Given the description of an element on the screen output the (x, y) to click on. 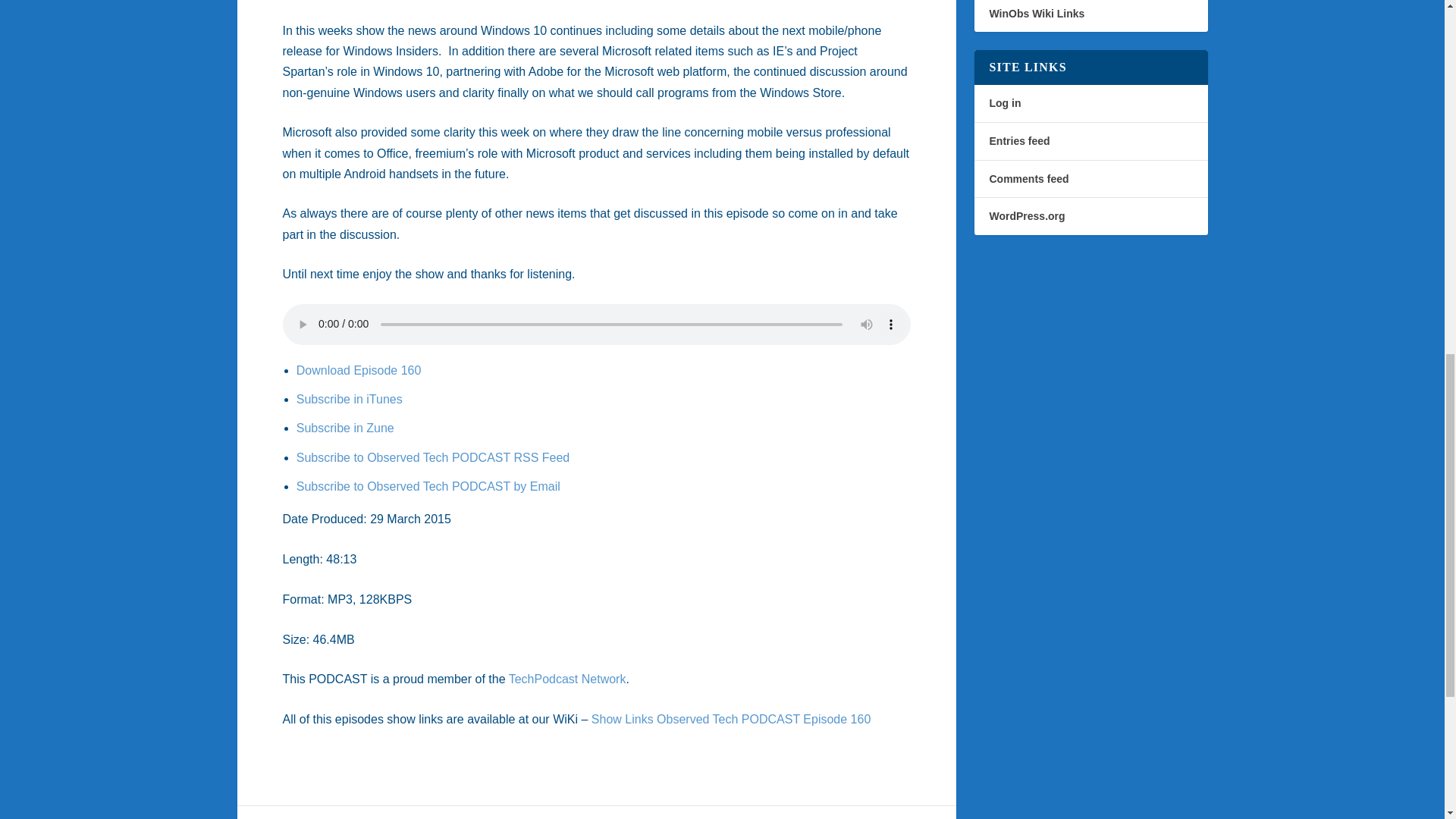
Subscribe in Zune (345, 427)
Subscribe to Observed Tech PODCAST RSS Feed (433, 457)
Download Episode 160 (359, 369)
Subscribe to Observed Tech PODCAST by Email (428, 486)
Show Links Observed Tech PODCAST Episode 160 (730, 718)
TechPodcast Network (567, 678)
Subscribe in iTunes (350, 399)
